Given the description of an element on the screen output the (x, y) to click on. 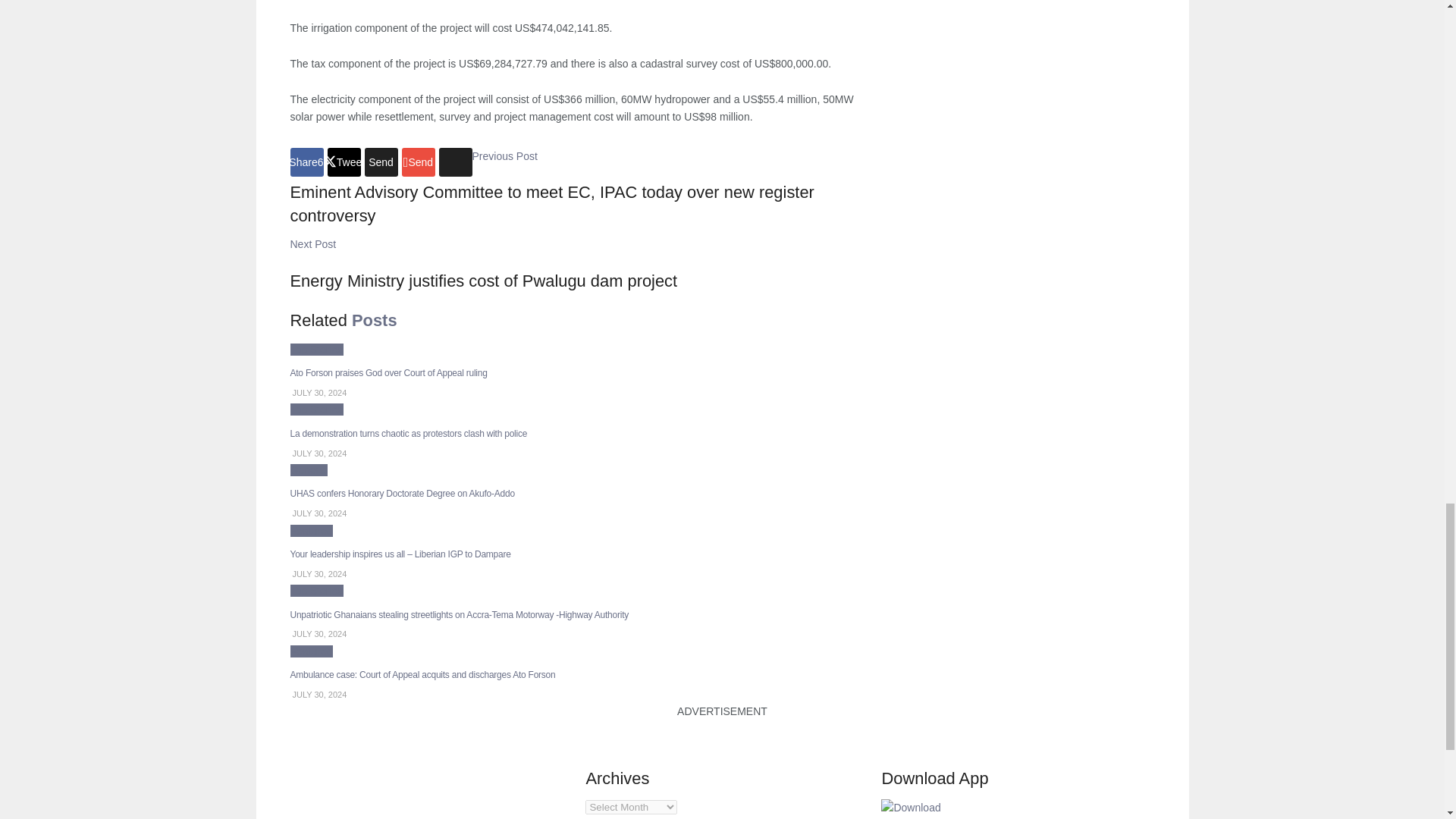
Google Play (910, 807)
